Given the description of an element on the screen output the (x, y) to click on. 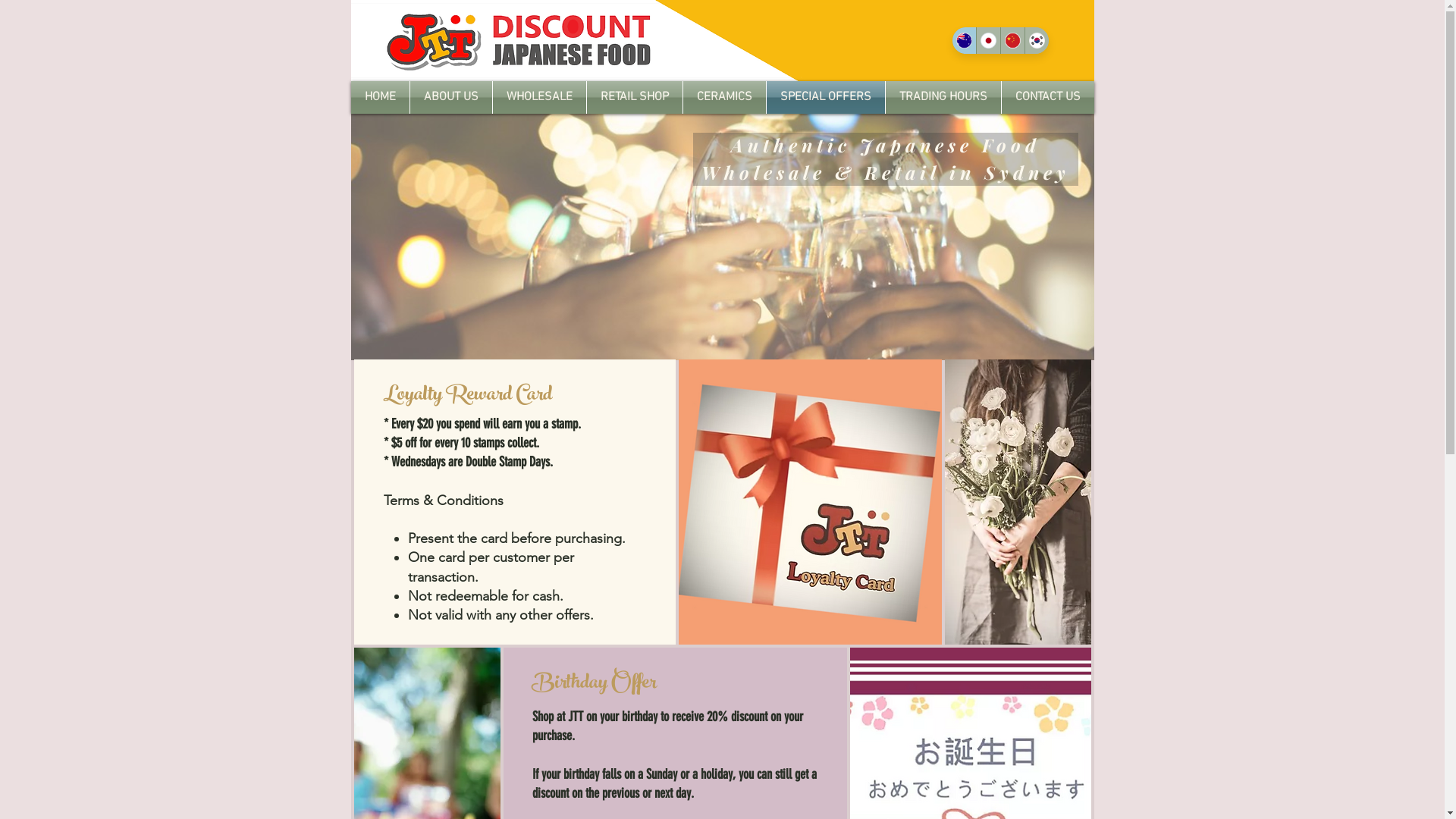
TRADING HOURS Element type: text (943, 97)
CONTACT US Element type: text (1047, 97)
WHOLESALE Element type: text (539, 97)
SPECIAL OFFERS Element type: text (824, 97)
CERAMICS Element type: text (723, 97)
RETAIL SHOP Element type: text (634, 97)
HOME Element type: text (379, 97)
ABOUT US Element type: text (450, 97)
J TOP TRADE AUSTRALIA Element type: hover (721, 40)
